Given the description of an element on the screen output the (x, y) to click on. 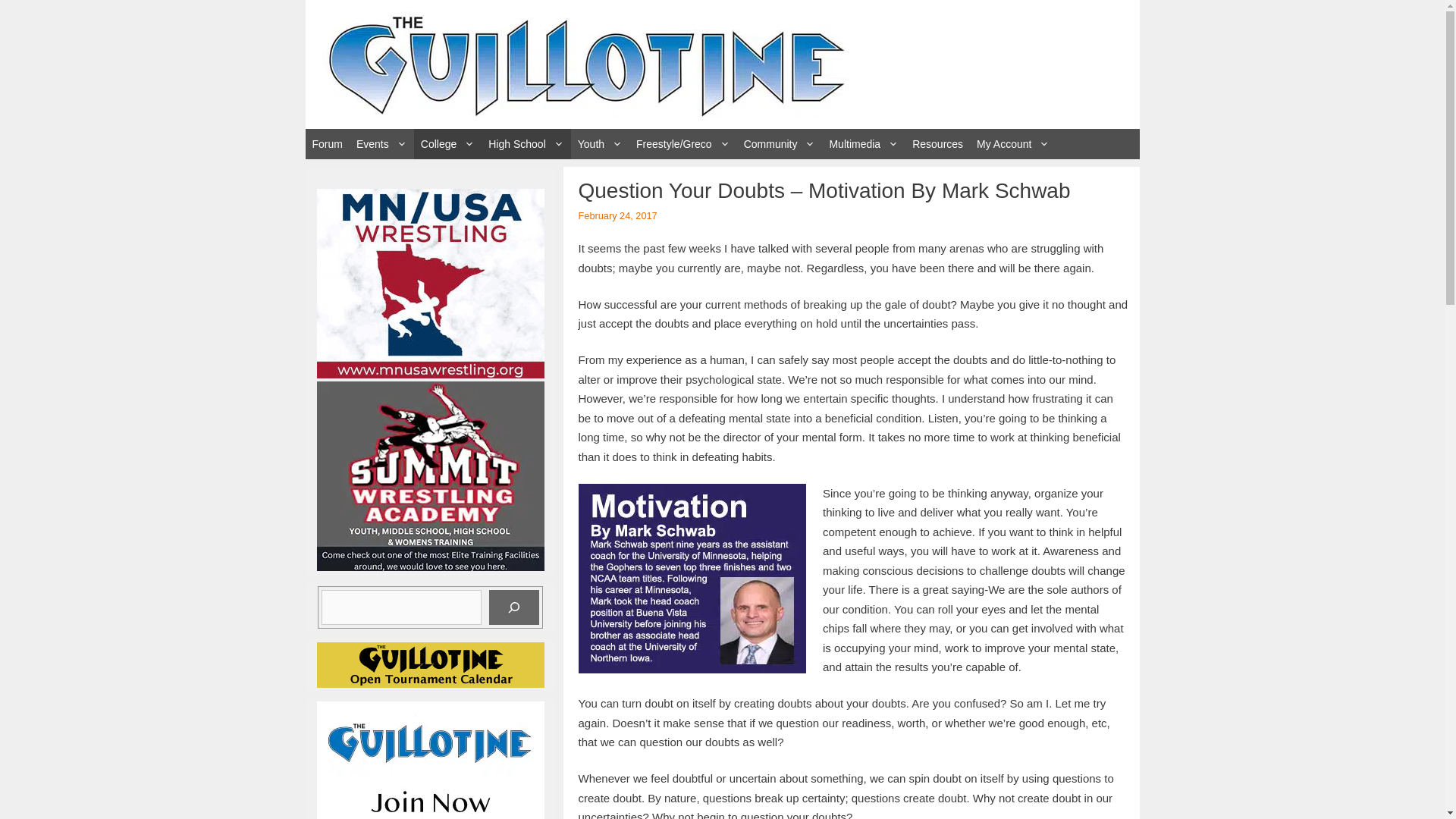
Events (381, 143)
College (447, 143)
High School (525, 143)
College News (447, 143)
Forum (326, 143)
The Guillotine Events Calendar (381, 143)
